Given the description of an element on the screen output the (x, y) to click on. 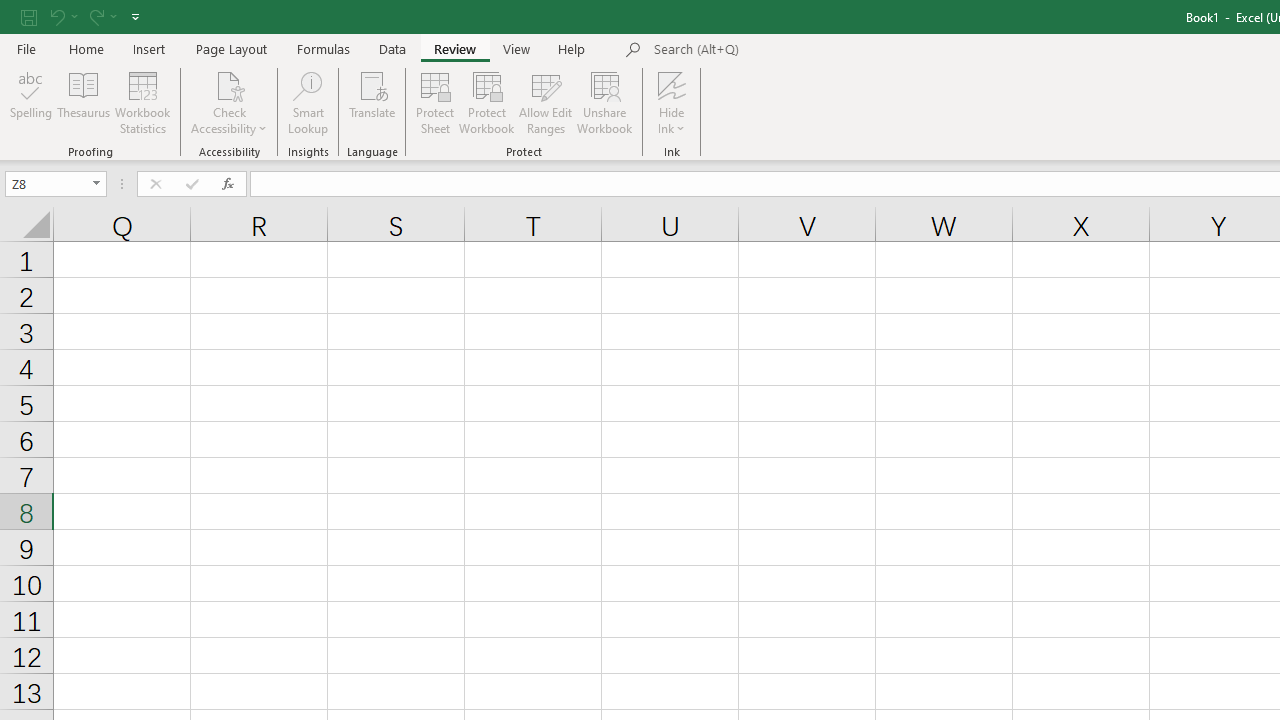
Workbook Statistics (142, 102)
Redo (95, 15)
Review (454, 48)
Name Box (46, 183)
Hide Ink (671, 102)
Thesaurus... (83, 102)
Spelling... (31, 102)
Unshare Workbook (604, 102)
Name Box (56, 183)
Microsoft search (792, 49)
Check Accessibility (229, 84)
System (10, 11)
Protect Workbook... (486, 102)
Allow Edit Ranges (545, 102)
